Given the description of an element on the screen output the (x, y) to click on. 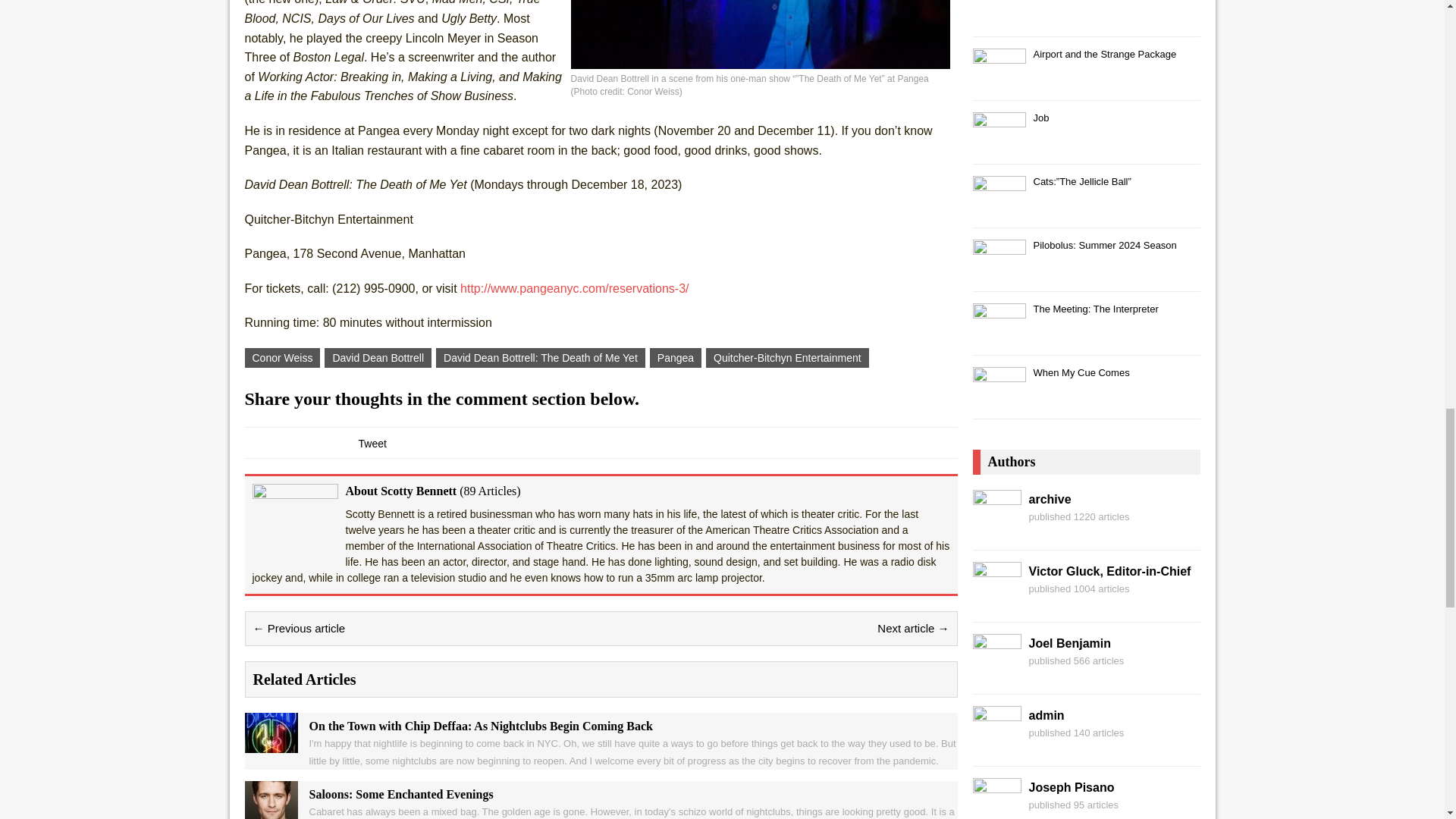
Saloons: Some Enchanted Evenings (270, 811)
More articles written by Scotty Bennett (490, 490)
